Given the description of an element on the screen output the (x, y) to click on. 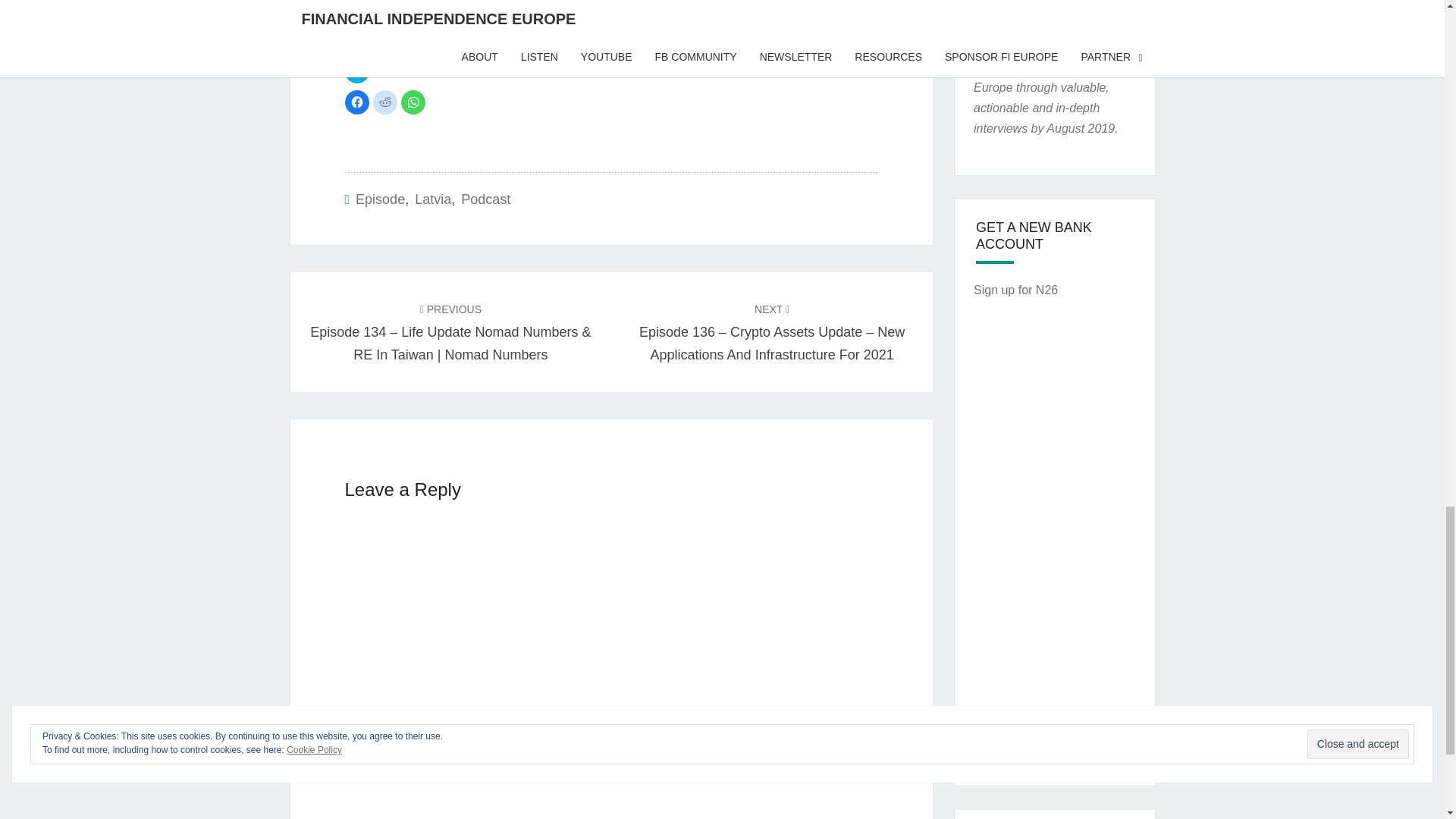
Podcast (486, 199)
Sign of for N26 Europe (1016, 289)
Click to share on Reddit (384, 102)
Click to share on Facebook (355, 102)
Episode (379, 199)
Click to share on Twitter (355, 70)
Latvia (432, 199)
Click to share on WhatsApp (412, 102)
